Given the description of an element on the screen output the (x, y) to click on. 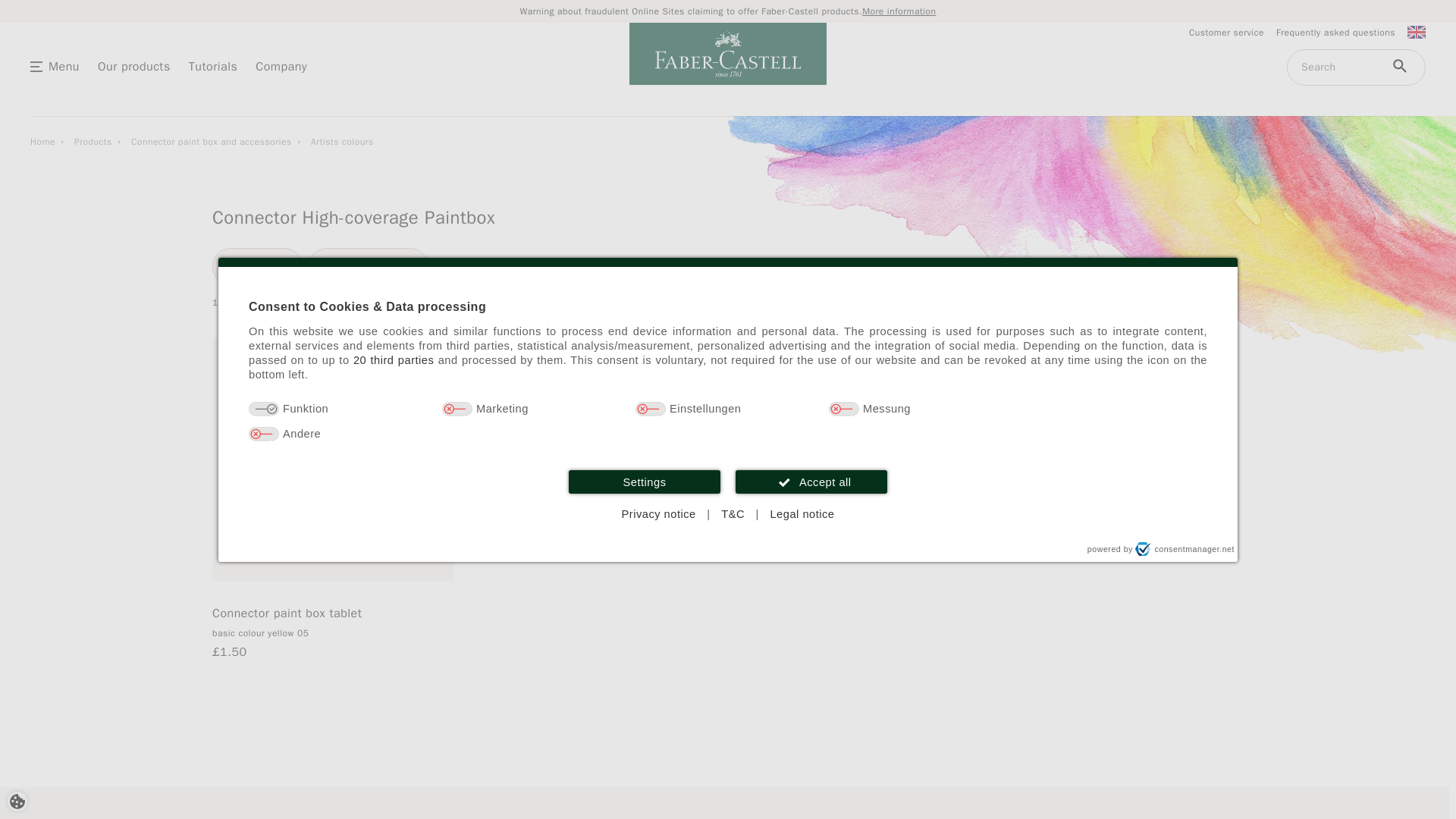
Accept all (810, 481)
More information (898, 10)
Logo-FC-SVG (727, 53)
Privacy notice (658, 514)
consentmanager.net (1184, 548)
20 third parties (393, 359)
Settings (644, 481)
Menu (64, 65)
Tutorials (213, 65)
Privacy settings (17, 801)
Our products (133, 65)
Company (281, 65)
Purpose (727, 422)
Legal notice (801, 514)
